Given the description of an element on the screen output the (x, y) to click on. 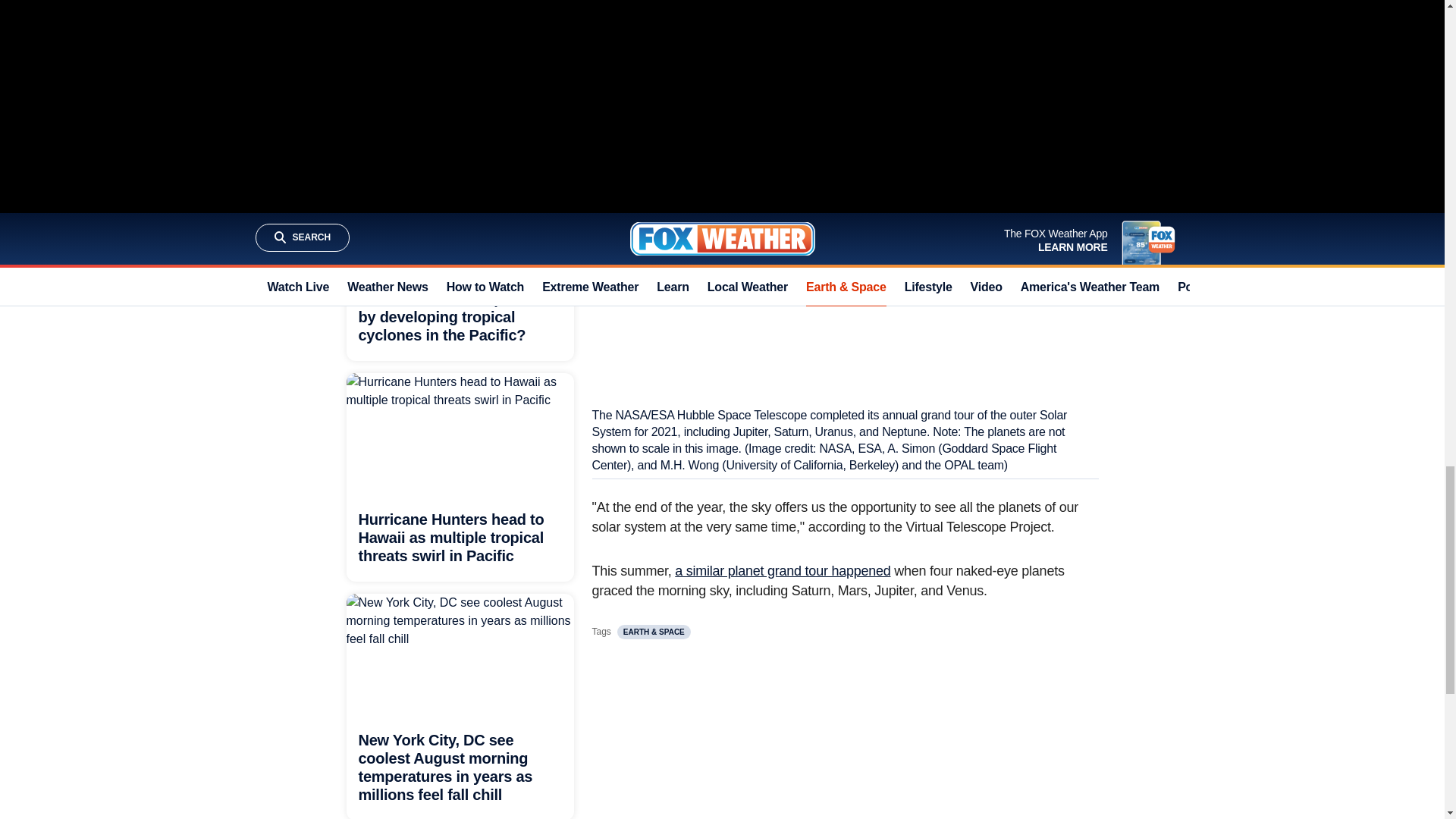
Coolest air in two months being felt across East (448, 109)
"Grand Tour of the Solar System" (837, 13)
WHAT A TOXIC INFERNO LIKE VENUS CAN TELL US ABOUT EARTH (808, 58)
a similar planet grand tour happened (782, 570)
